Given the description of an element on the screen output the (x, y) to click on. 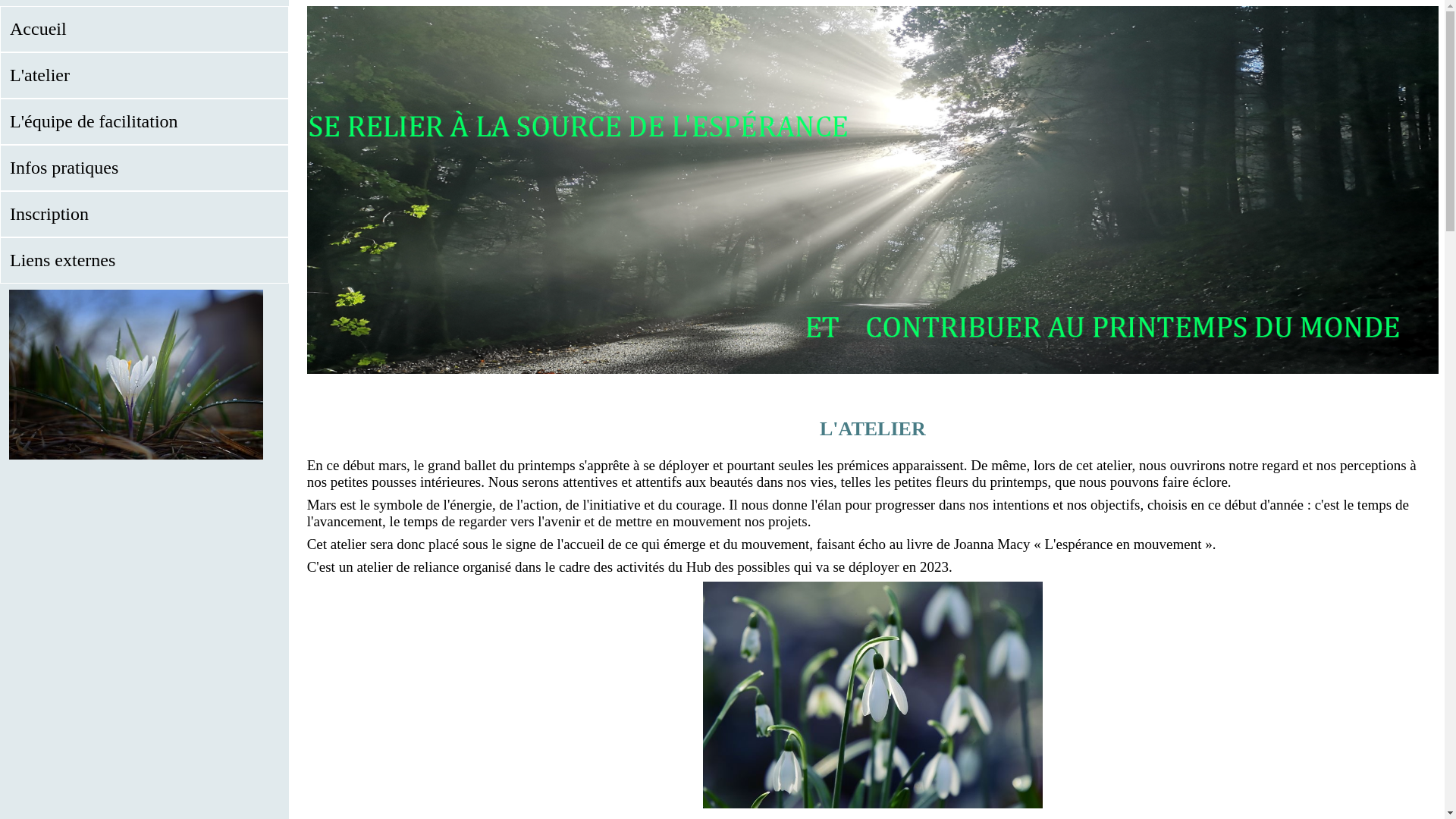
Inscription Element type: text (144, 214)
Liens externes Element type: text (144, 260)
Accueil Element type: text (144, 29)
Infos pratiques Element type: text (144, 167)
L'atelier Element type: text (144, 75)
